Given the description of an element on the screen output the (x, y) to click on. 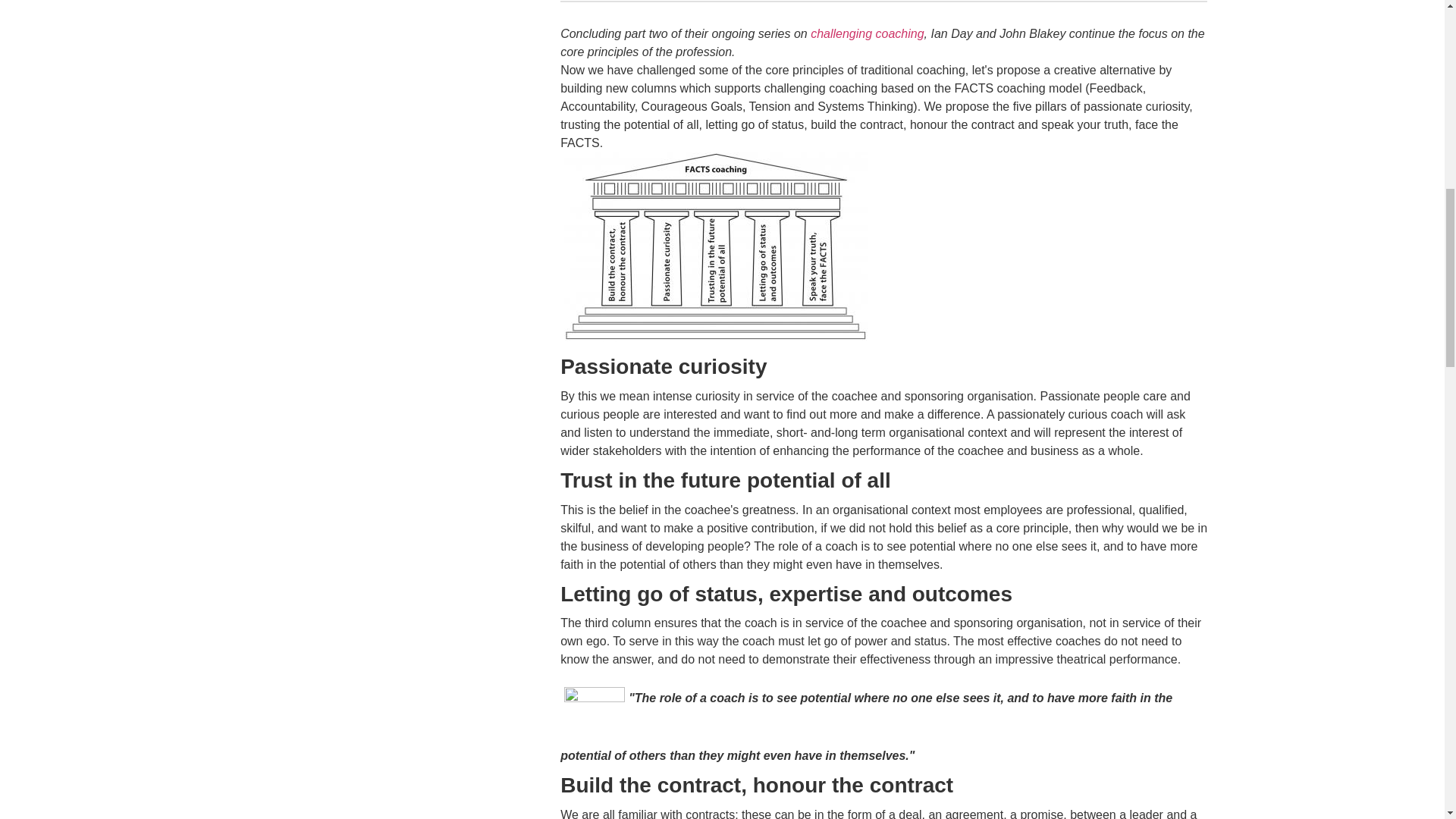
challenging coaching (866, 33)
